Given the description of an element on the screen output the (x, y) to click on. 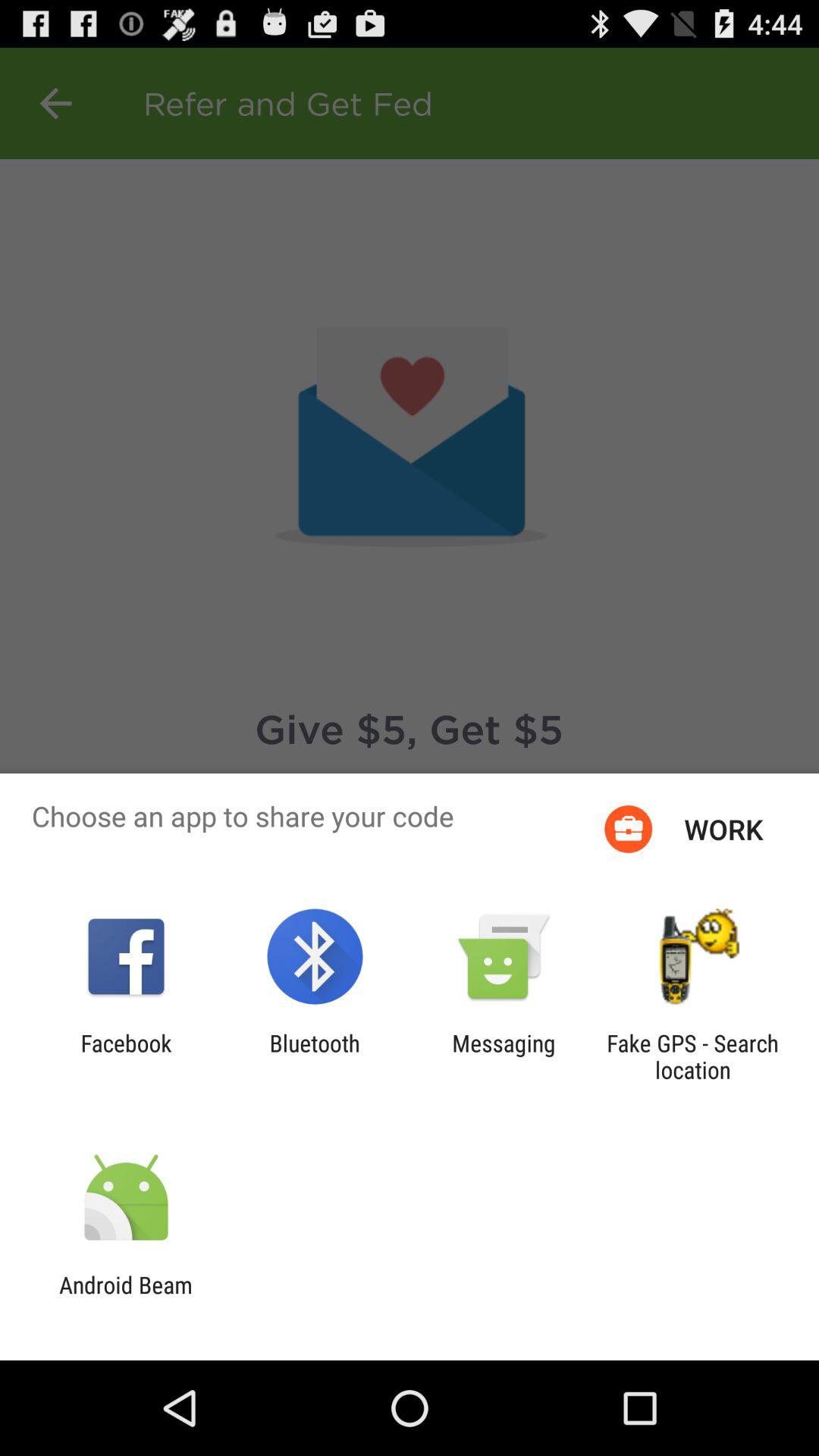
choose the app next to the messaging app (692, 1056)
